Given the description of an element on the screen output the (x, y) to click on. 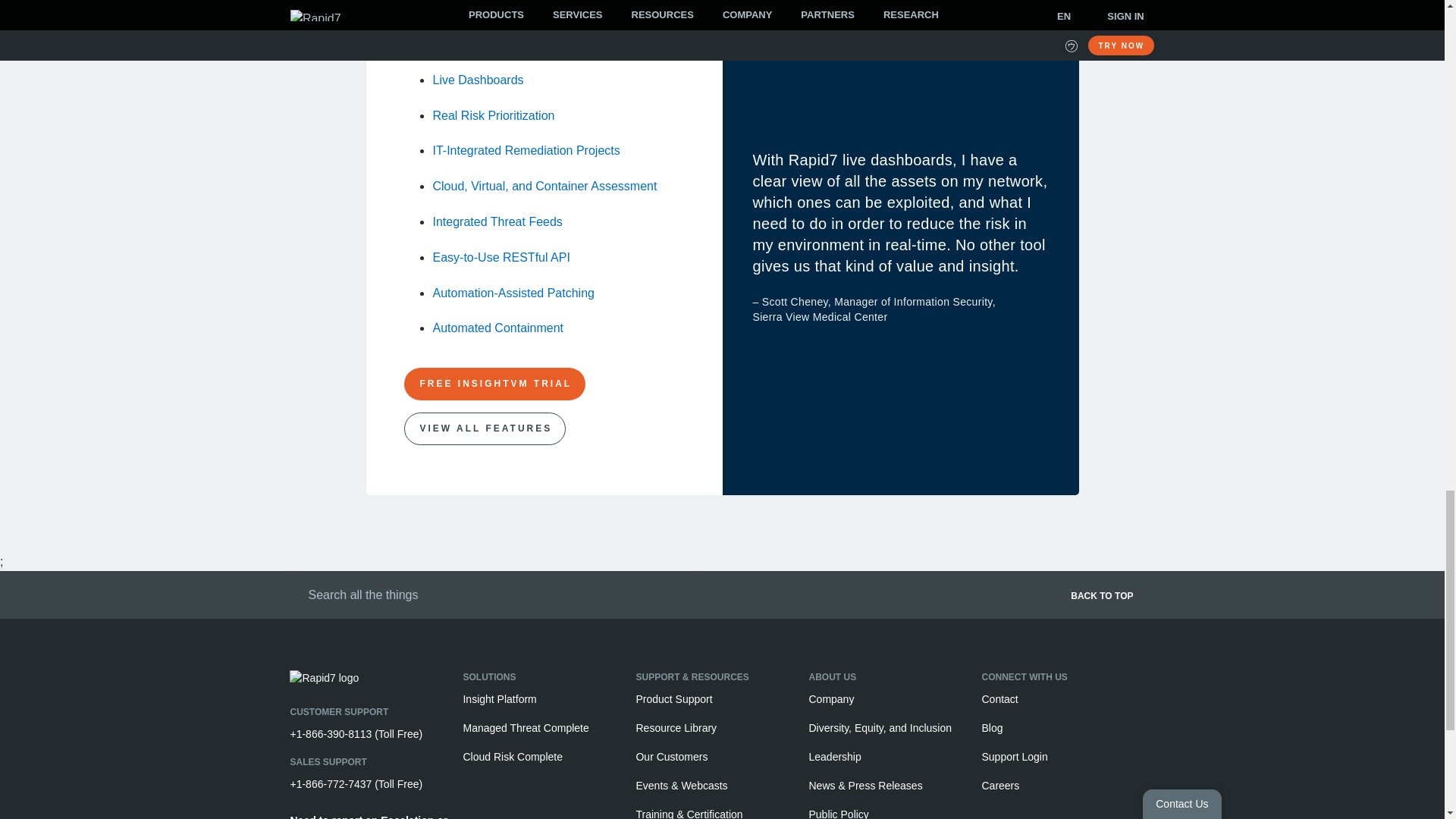
Submit Search (294, 593)
BACK TO TOP (949, 600)
Submit Search (294, 593)
